Given the description of an element on the screen output the (x, y) to click on. 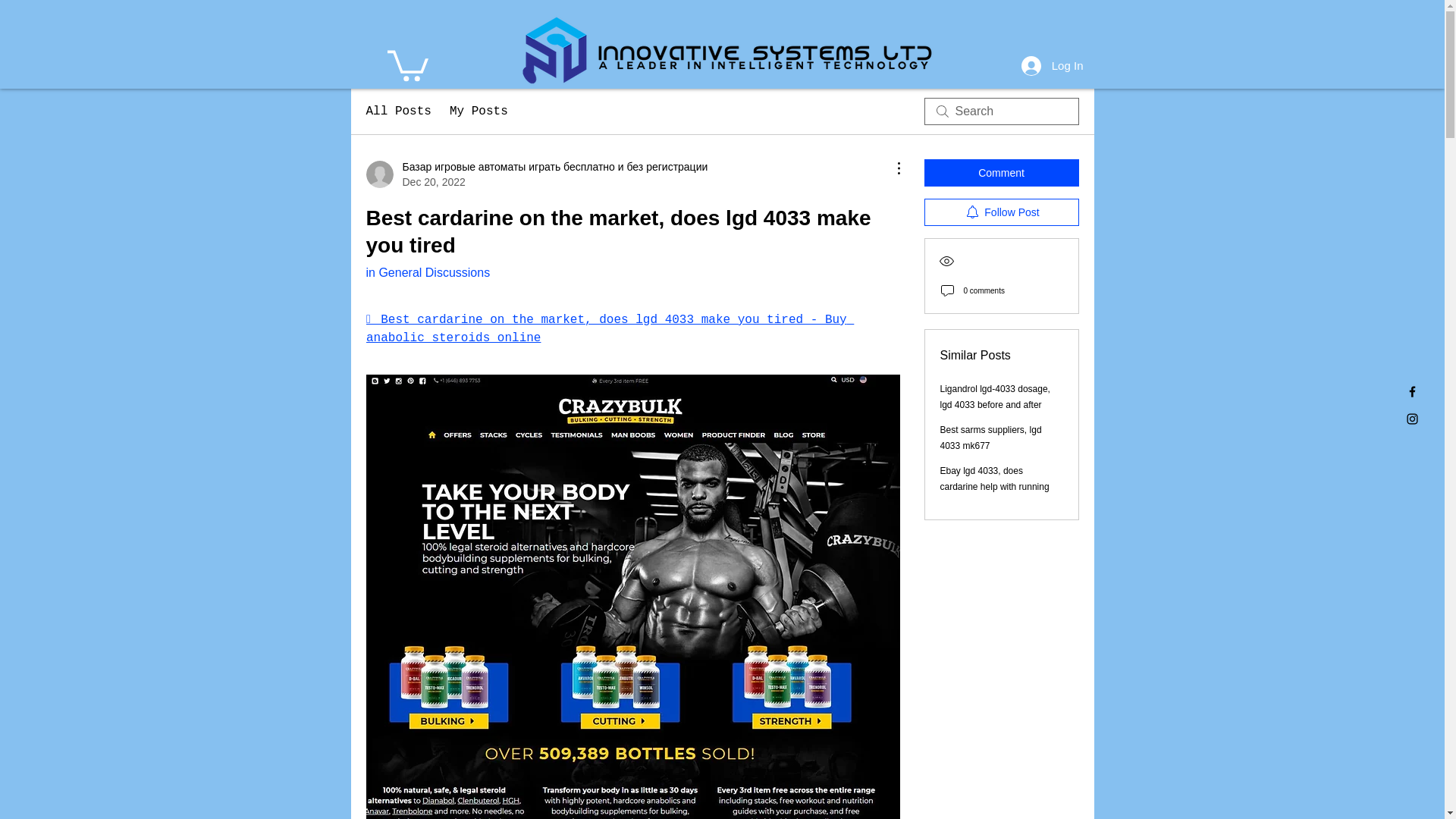
Comment (1000, 172)
Log In (1052, 65)
Best sarms suppliers, lgd 4033 mk677 (991, 438)
in General Discussions (427, 272)
Follow Post (1000, 212)
All Posts (397, 111)
Ligandrol lgd-4033 dosage, lgd 4033 before and after (994, 397)
My Posts (478, 111)
Ebay lgd 4033, does cardarine help with running (994, 479)
